Given the description of an element on the screen output the (x, y) to click on. 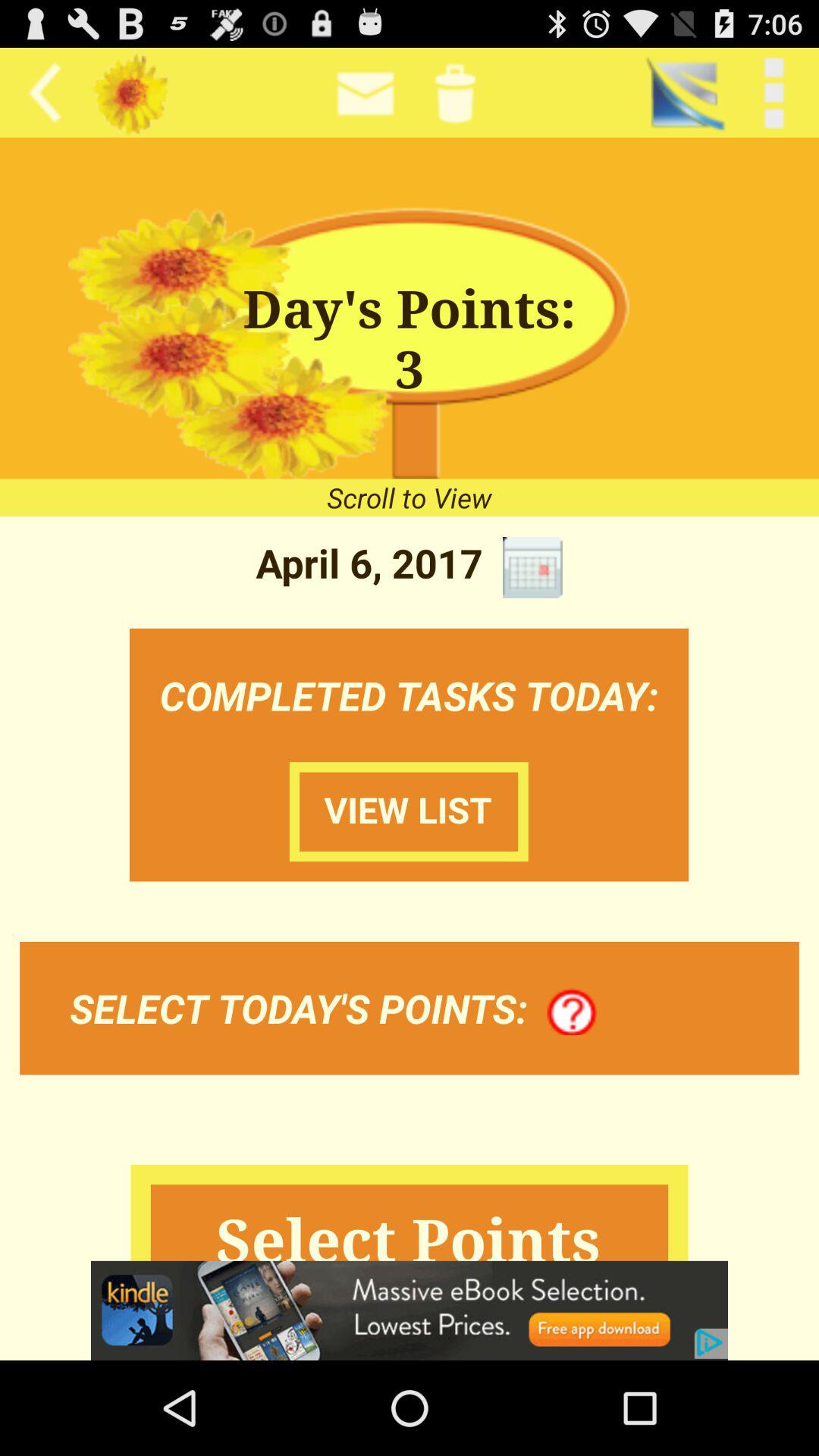
choose the icon to the right of the select today s item (572, 1012)
